Given the description of an element on the screen output the (x, y) to click on. 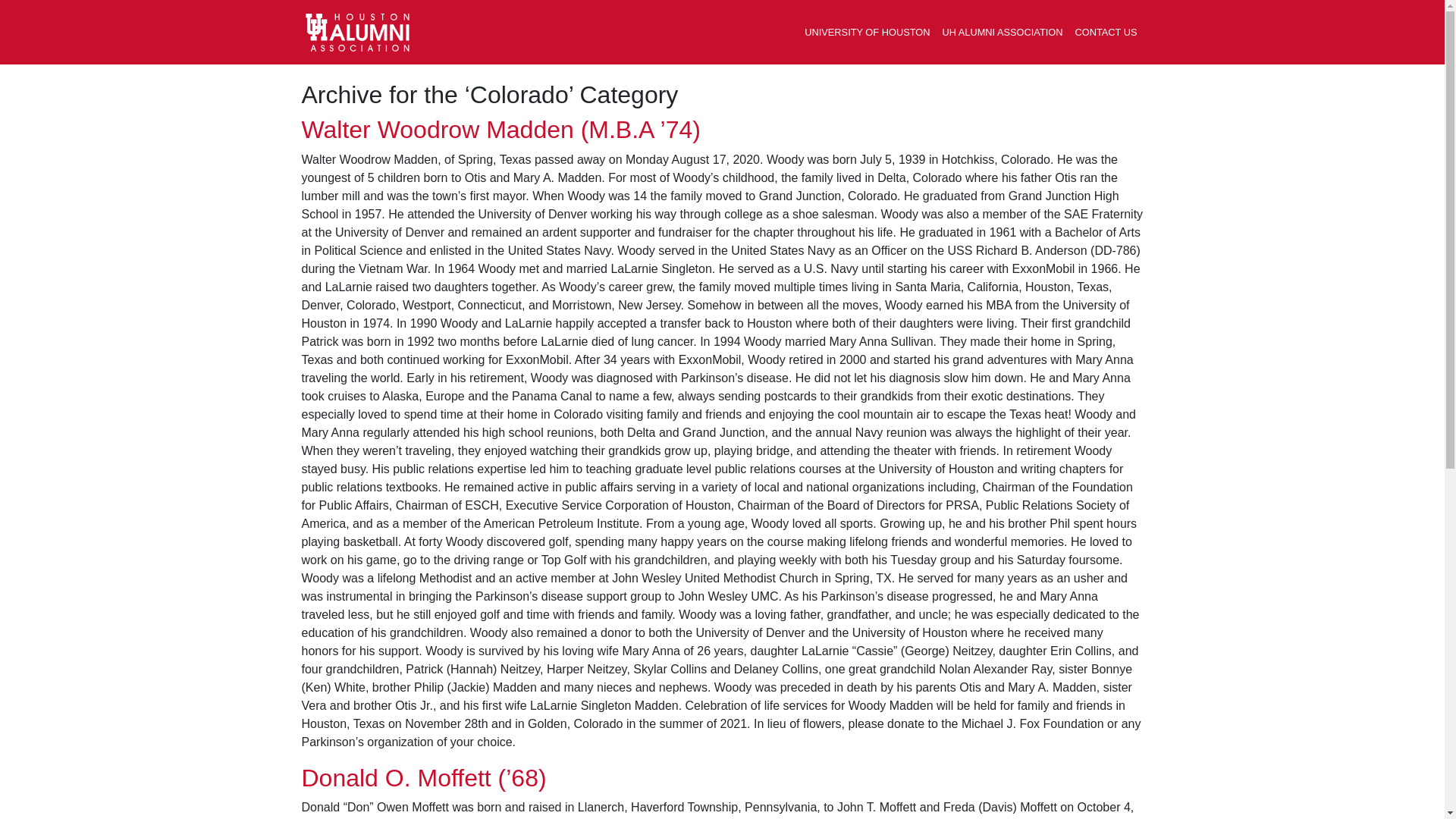
UH ALUMNI ASSOCIATION (1002, 31)
CONTACT US (1105, 31)
UNIVERSITY OF HOUSTON (866, 31)
